Given the description of an element on the screen output the (x, y) to click on. 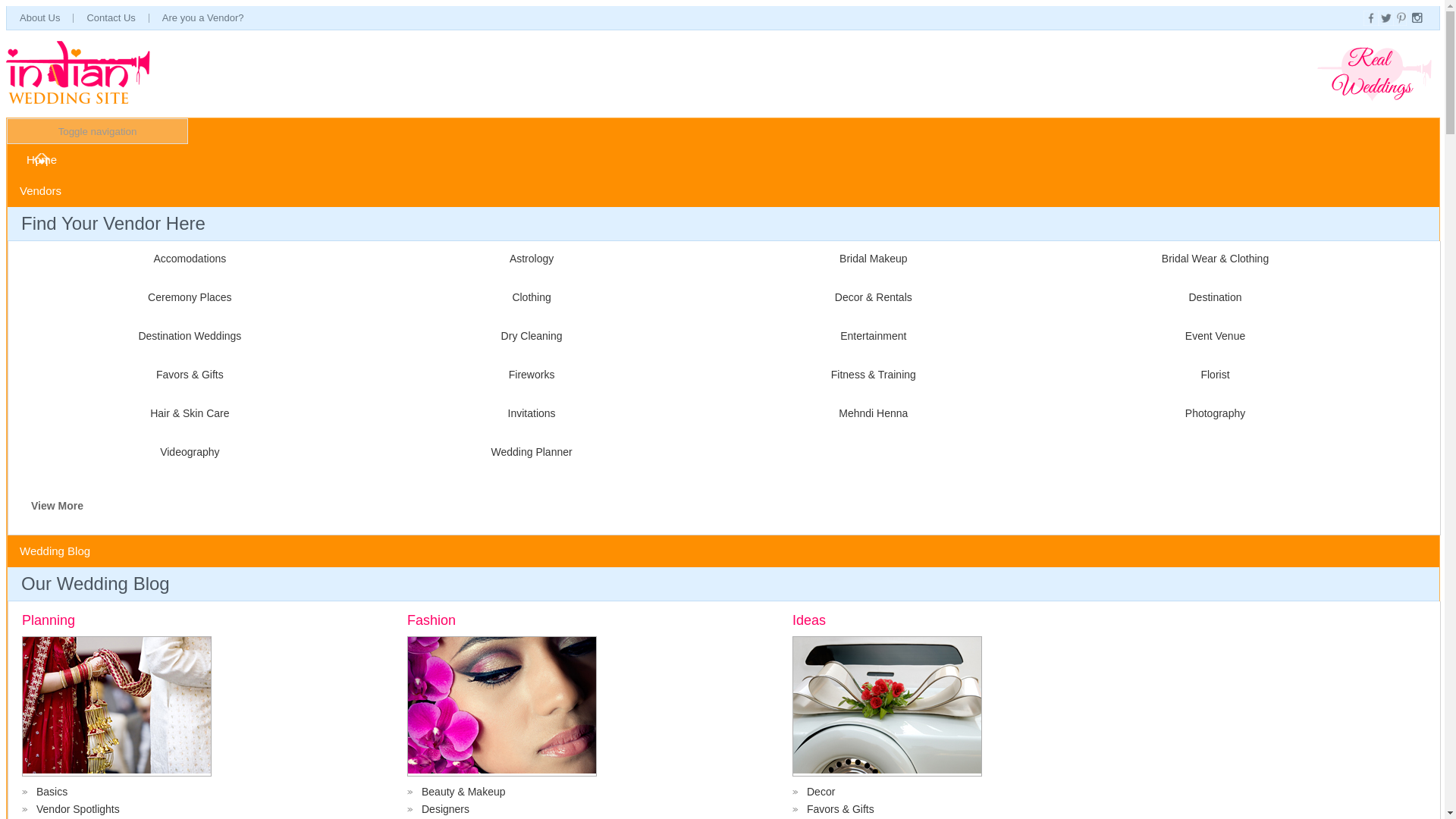
Accomodations (187, 258)
About Us (39, 17)
Bridal Makeup (869, 258)
Wedding Blog (56, 550)
Destination (1212, 297)
Event Venue (1212, 336)
View More (56, 505)
Florist (1212, 374)
Videography (187, 451)
Home (41, 159)
Are you a Vendor? (203, 17)
Mehndi Henna (869, 413)
Wedding Planner (529, 451)
Astrology (529, 258)
Invitations (529, 413)
